Given the description of an element on the screen output the (x, y) to click on. 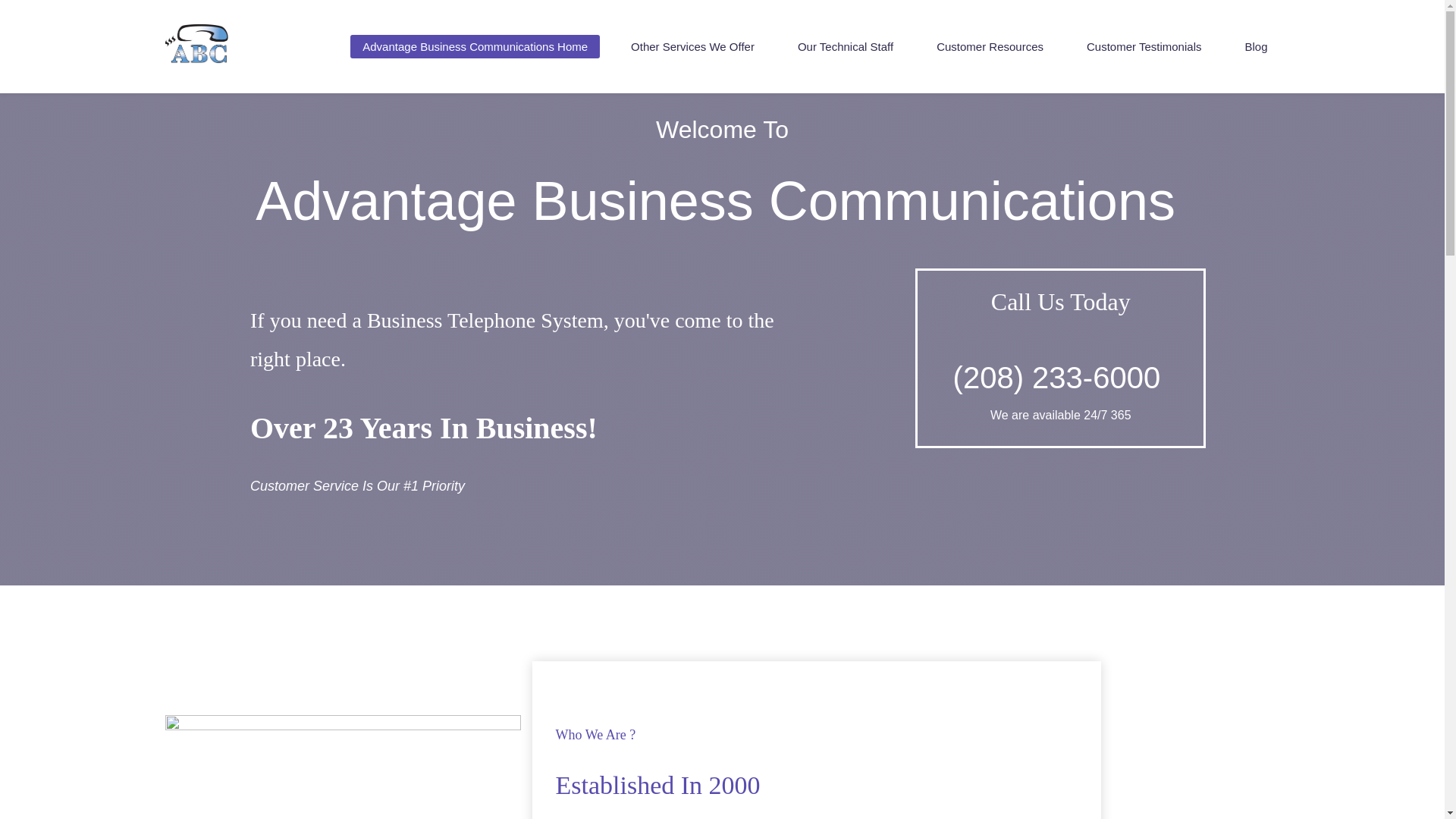
Customer Testimonials (1143, 46)
Our Technical Staff (845, 46)
Other Services We Offer (692, 46)
Customer Resources (989, 46)
Blog (1255, 46)
Advantage Business Communications Home (474, 46)
